Given the description of an element on the screen output the (x, y) to click on. 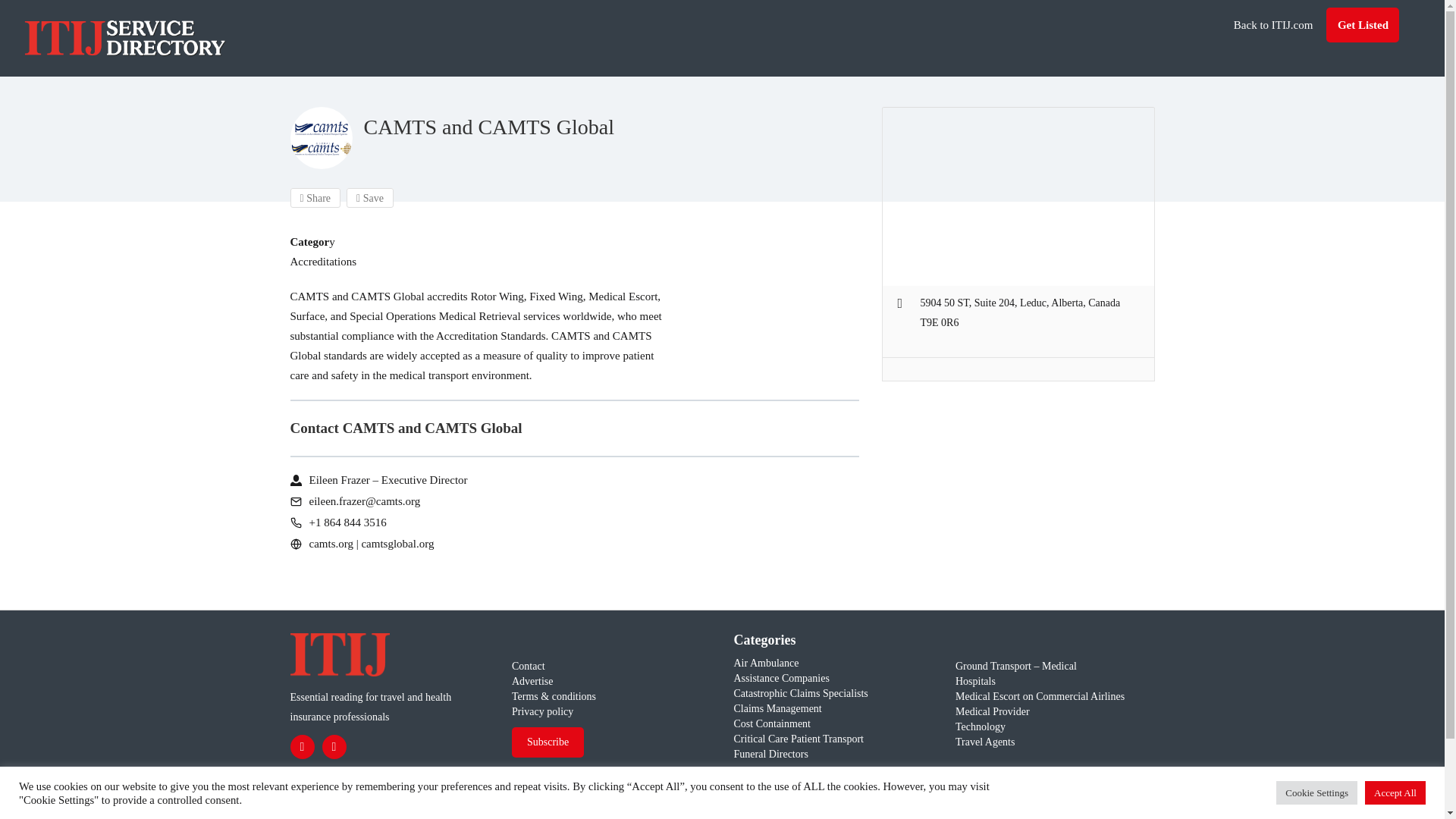
Back to ITIJ.com (1273, 24)
Submit (413, 502)
Claim your business now! (584, 567)
Get Listed (1363, 24)
Save (369, 198)
Share (314, 198)
